Given the description of an element on the screen output the (x, y) to click on. 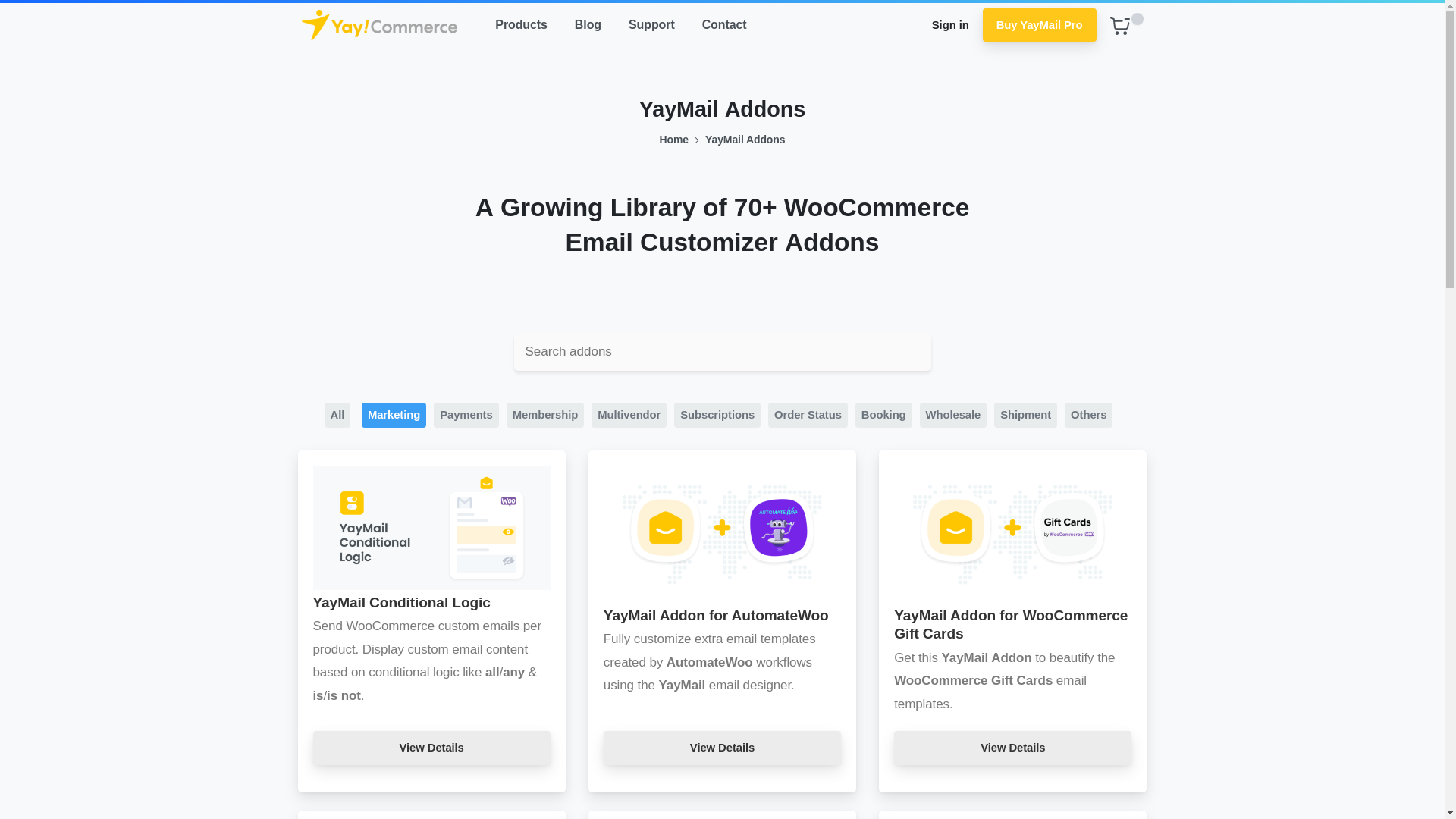
View Details (722, 747)
Products (521, 25)
Sign in (950, 25)
Contact (723, 25)
Products (521, 25)
Shipment (1025, 414)
Login (772, 24)
Blog (588, 25)
Membership (545, 414)
Support (652, 25)
